Given the description of an element on the screen output the (x, y) to click on. 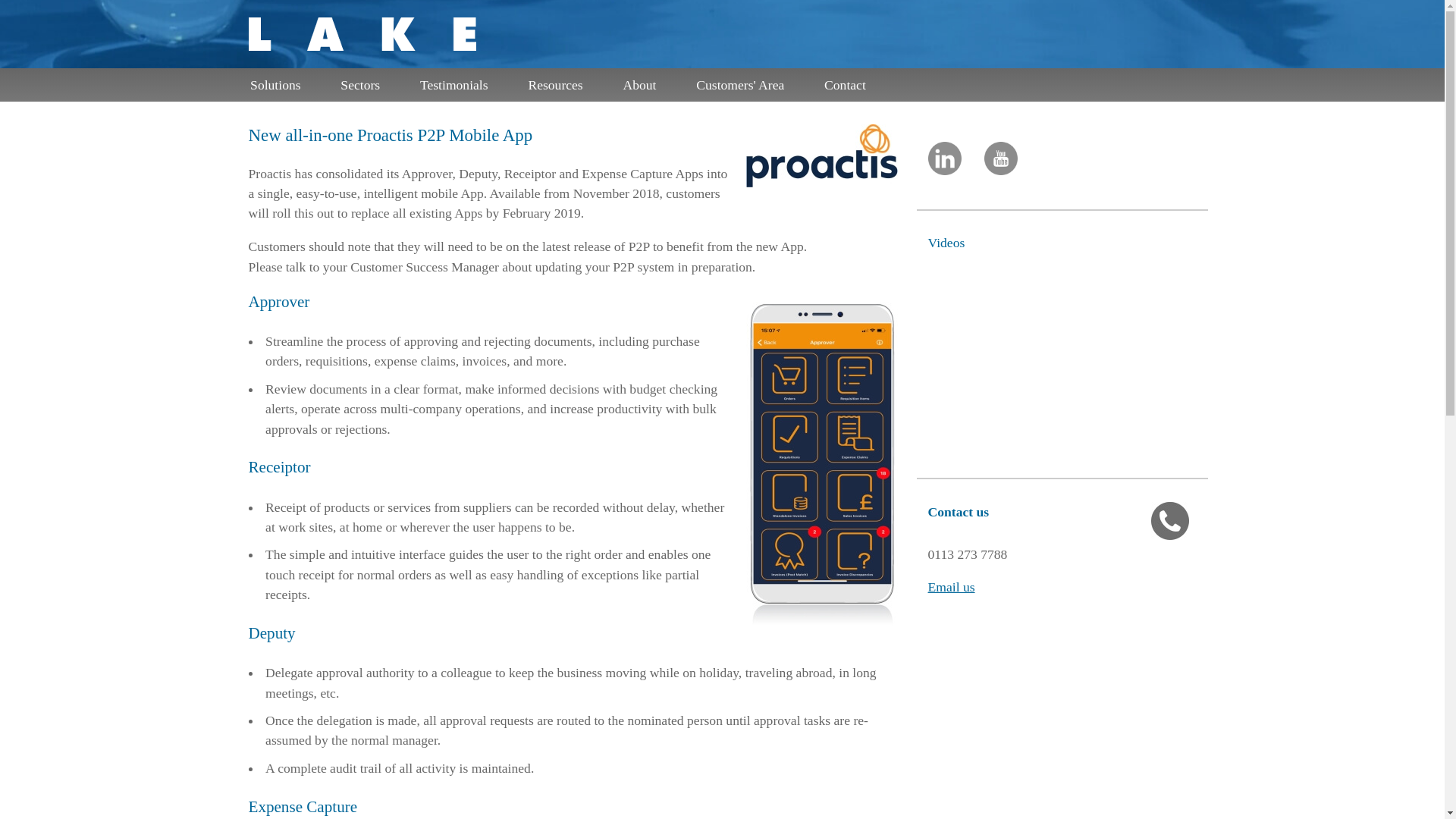
Resources (562, 84)
Sectors (367, 84)
Solutions (280, 84)
Testimonials (459, 84)
